Given the description of an element on the screen output the (x, y) to click on. 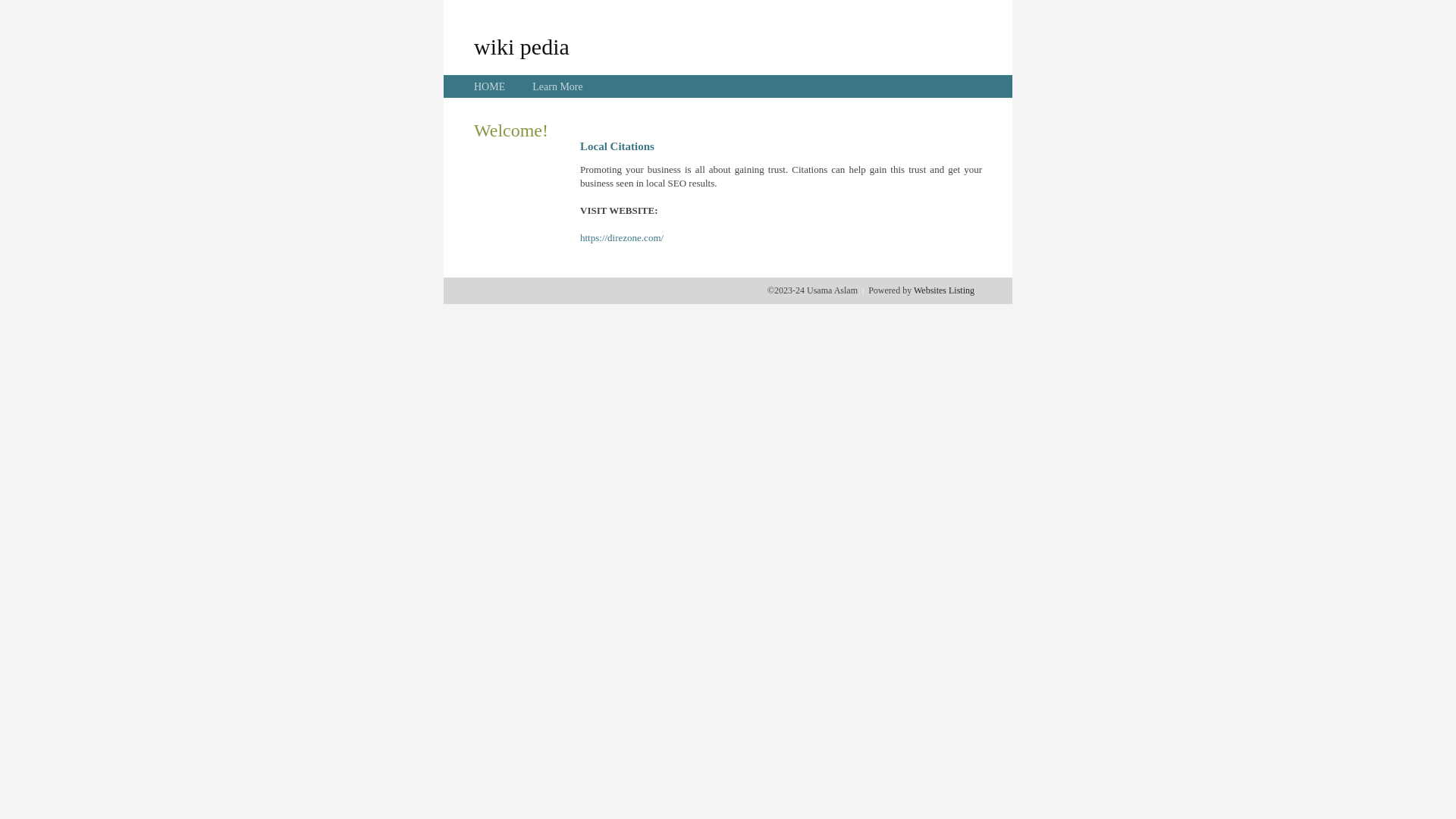
https://direzone.com/ Element type: text (621, 237)
Learn More Element type: text (557, 86)
Websites Listing Element type: text (943, 290)
HOME Element type: text (489, 86)
wiki pedia Element type: text (521, 46)
